Given the description of an element on the screen output the (x, y) to click on. 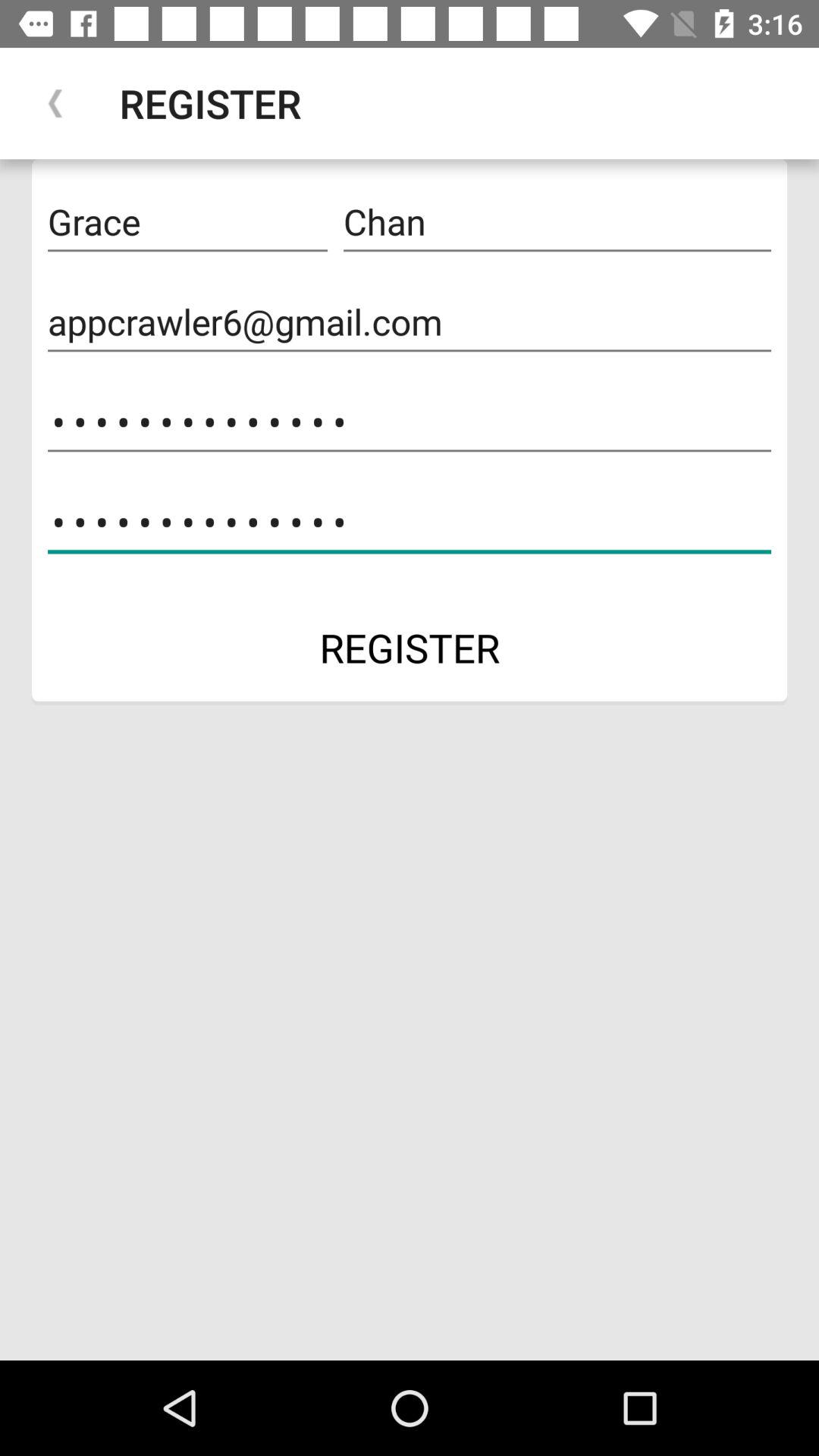
choose the appcrawler6@gmail.com item (409, 322)
